Given the description of an element on the screen output the (x, y) to click on. 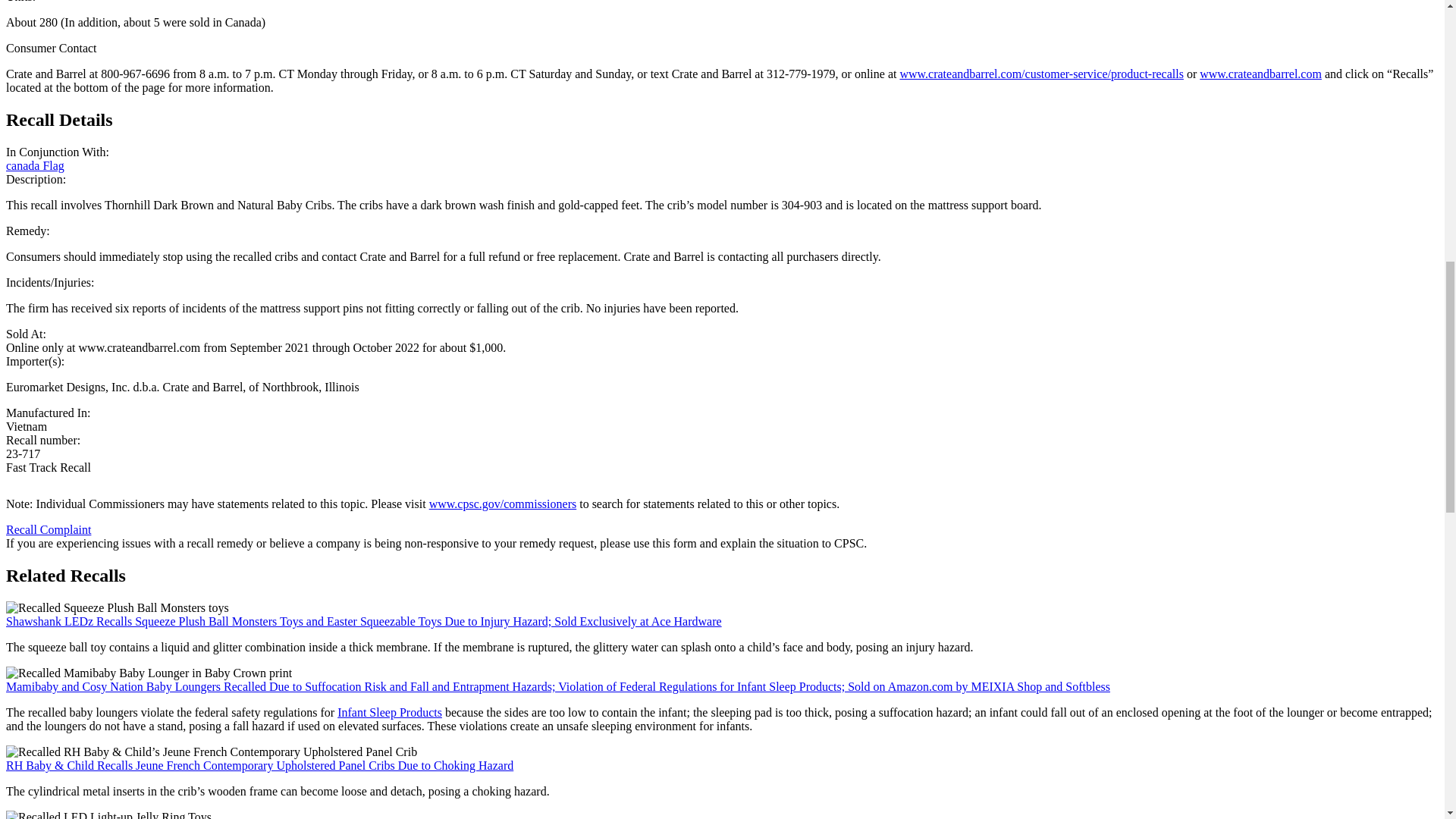
Infant Sleep Products (389, 712)
Report Recall Complaint (47, 529)
Recall Complaint (47, 529)
www.crateandbarrel.com (1260, 73)
canada Flag (34, 164)
